Given the description of an element on the screen output the (x, y) to click on. 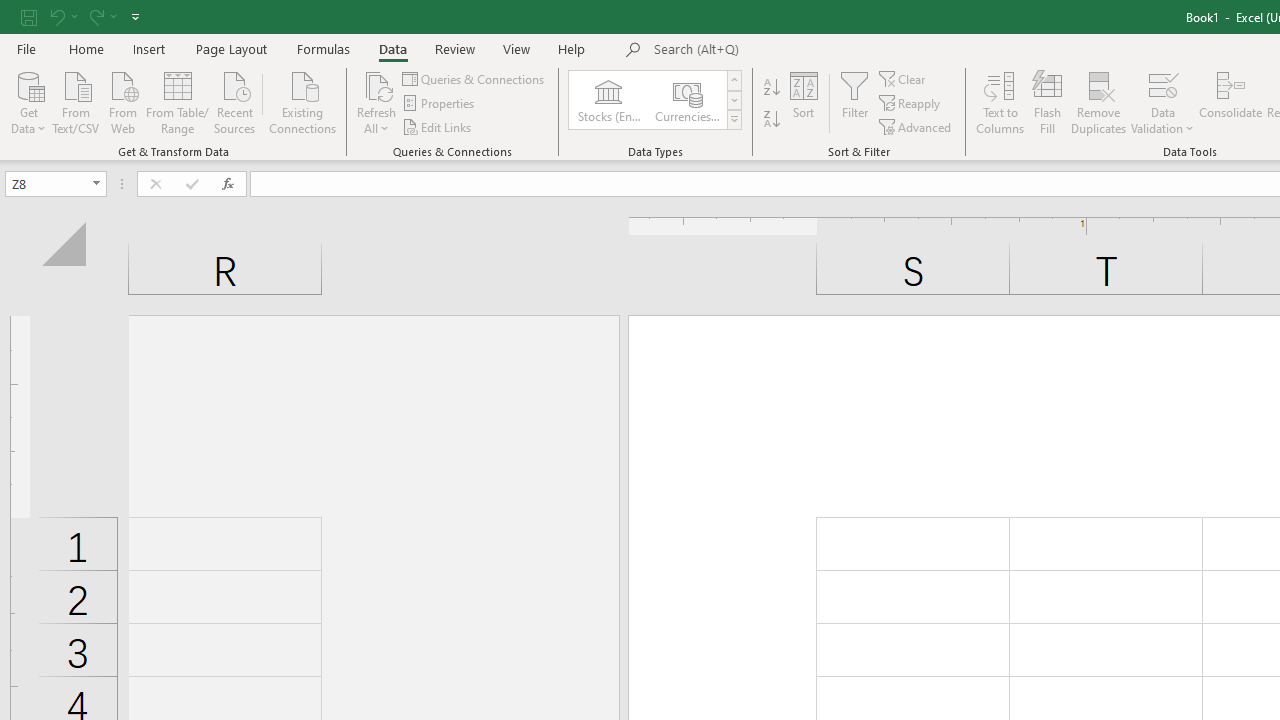
Review (454, 48)
Home (86, 48)
Filter (854, 102)
Data Validation... (1162, 102)
File Tab (26, 48)
Edit Links (438, 126)
Help (572, 48)
Quick Access Toolbar (82, 16)
Stocks (English) (608, 100)
From Table/Range (177, 101)
